Given the description of an element on the screen output the (x, y) to click on. 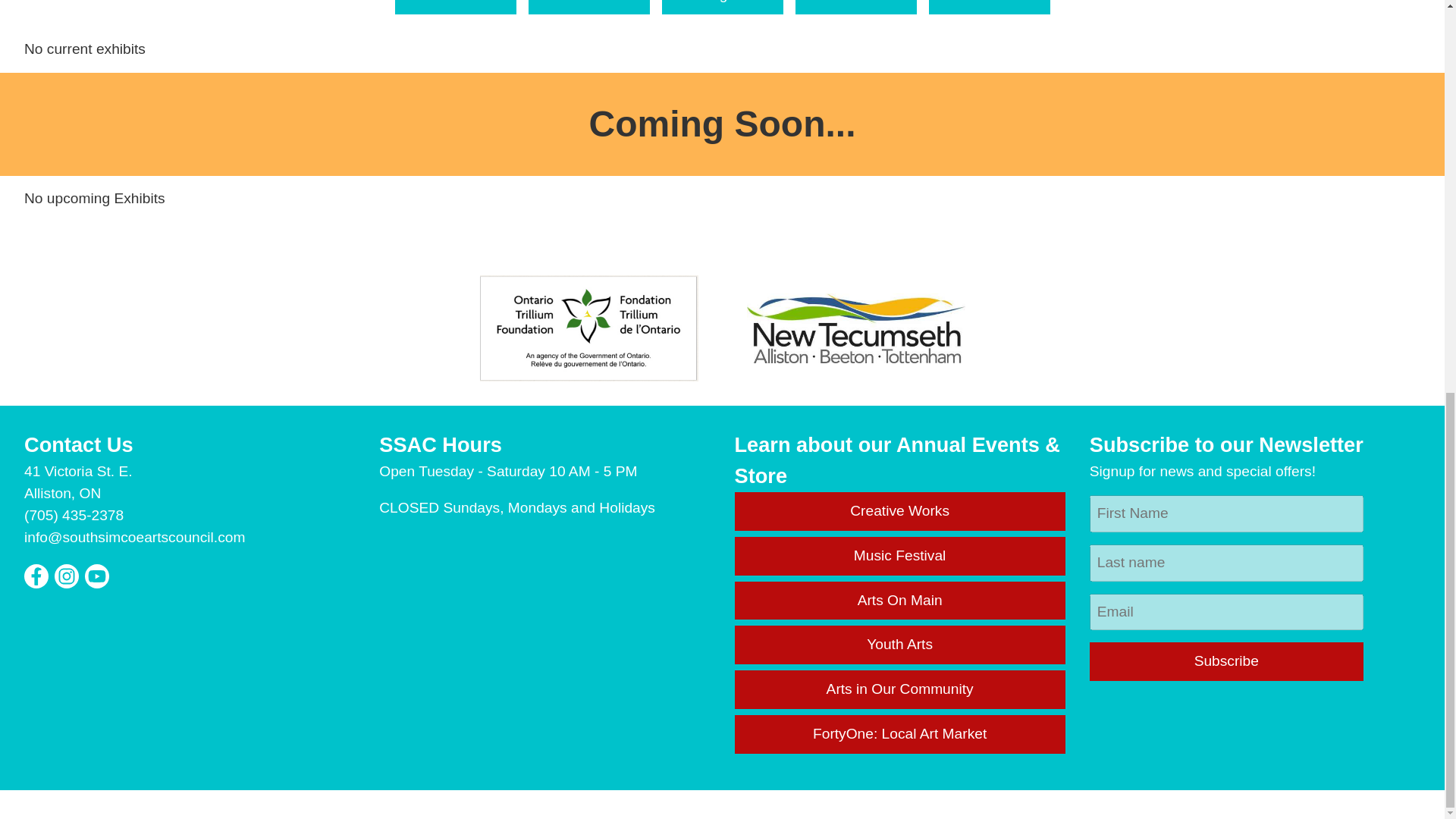
Creative Works (898, 511)
Angus (722, 7)
Alliston (588, 7)
Arts On Main (898, 600)
All (454, 7)
Innisfil (988, 7)
Bradford (854, 7)
Youth Arts (898, 644)
Music Festival (898, 556)
